Given the description of an element on the screen output the (x, y) to click on. 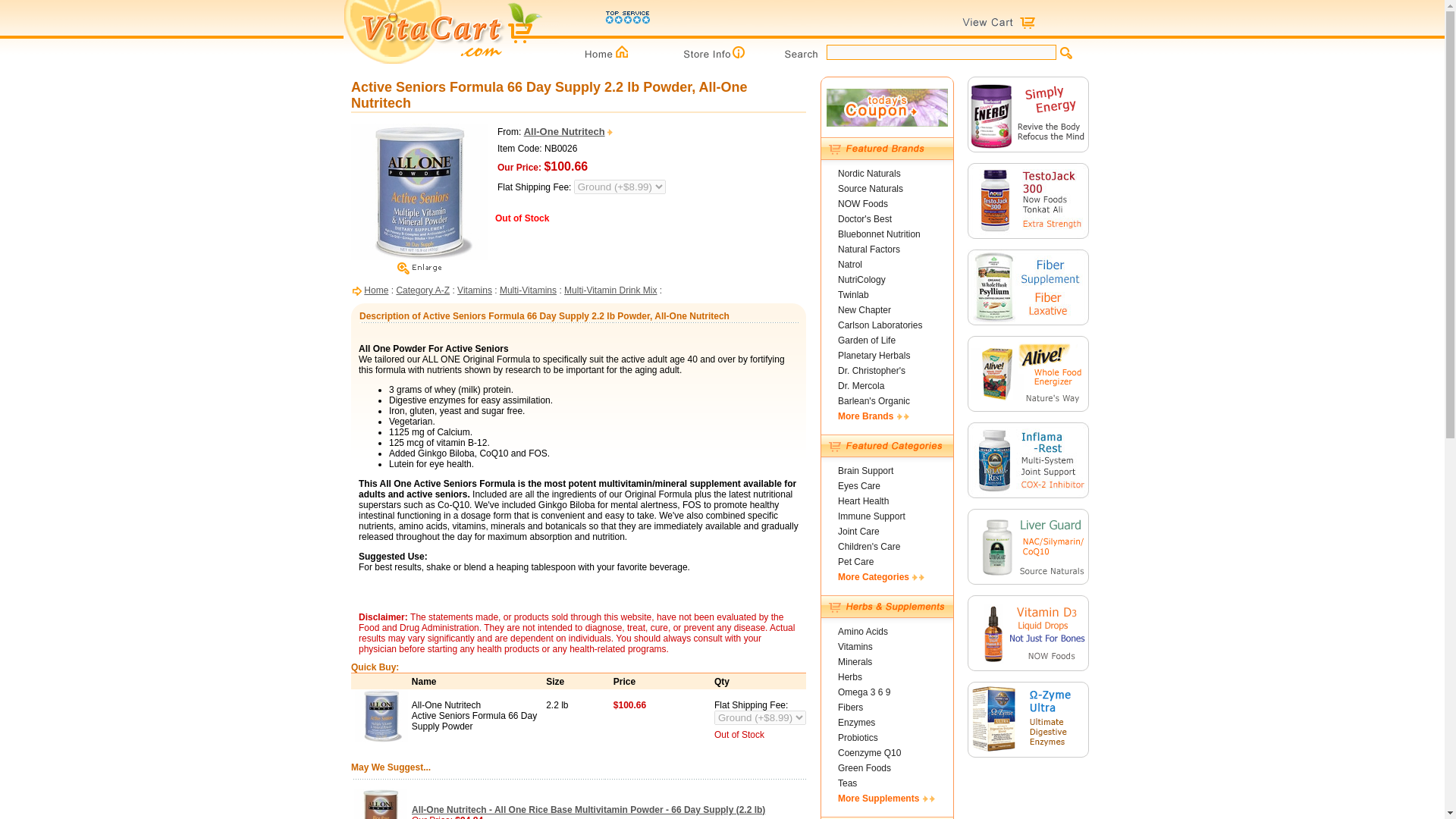
Doctor's Best (864, 218)
Home (376, 290)
NutriCology (861, 279)
Multi-Vitamins (527, 290)
All-One Nutritech (569, 131)
New Chapter (864, 309)
Bluebonnet Nutrition (879, 234)
Twinlab (853, 294)
Nordic Naturals (869, 173)
Natrol (849, 264)
